Given the description of an element on the screen output the (x, y) to click on. 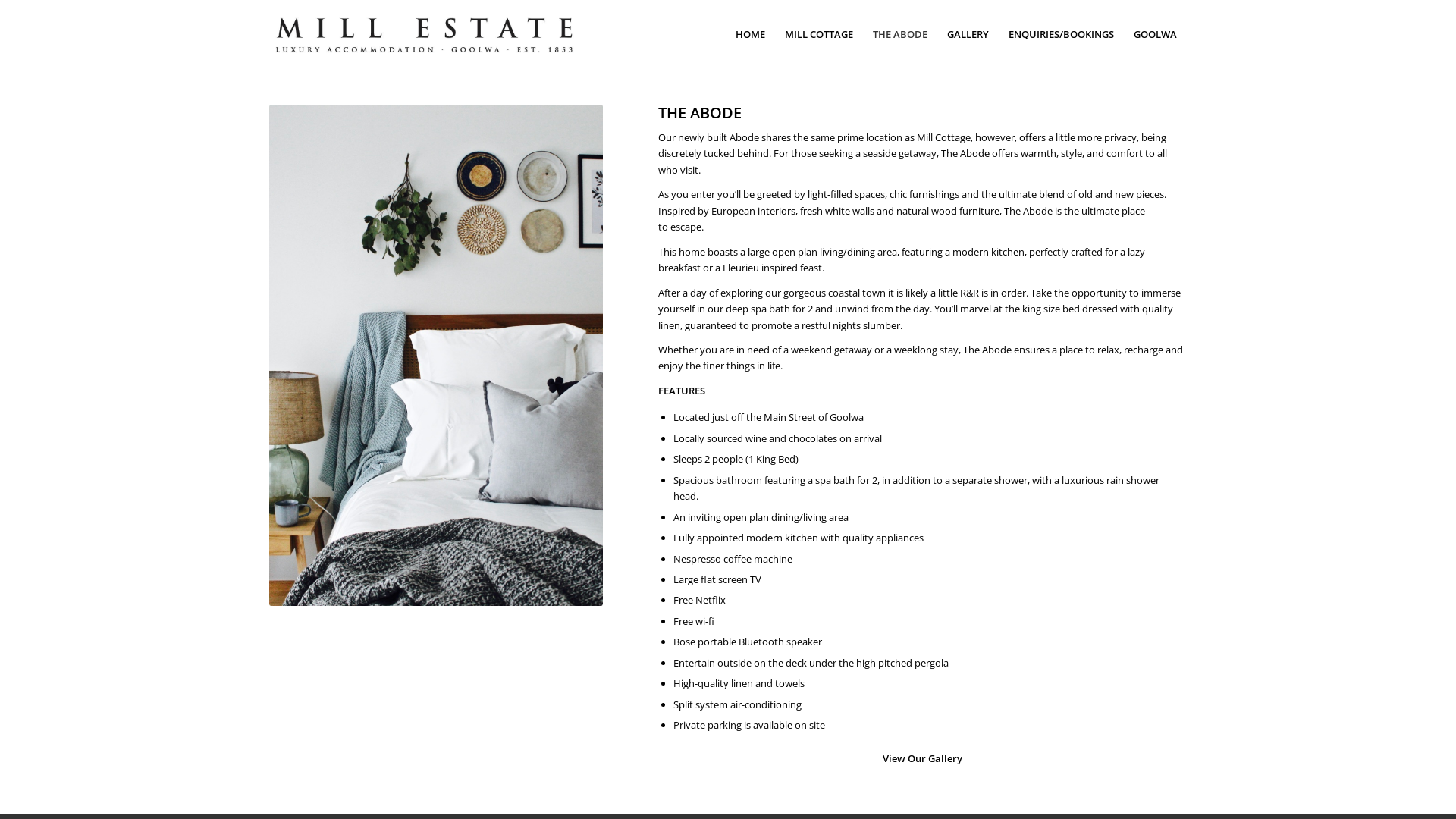
HOME Element type: text (750, 34)
GOOLWA Element type: text (1154, 34)
GALLERY Element type: text (967, 34)
26733259_10155583071773813_412120196_o Element type: hover (425, 34)
MILL COTTAGE Element type: text (818, 34)
View Our Gallery Element type: text (922, 758)
ENQUIRIES/BOOKINGS Element type: text (1060, 34)
2 Element type: hover (435, 354)
THE ABODE Element type: text (899, 34)
